Given the description of an element on the screen output the (x, y) to click on. 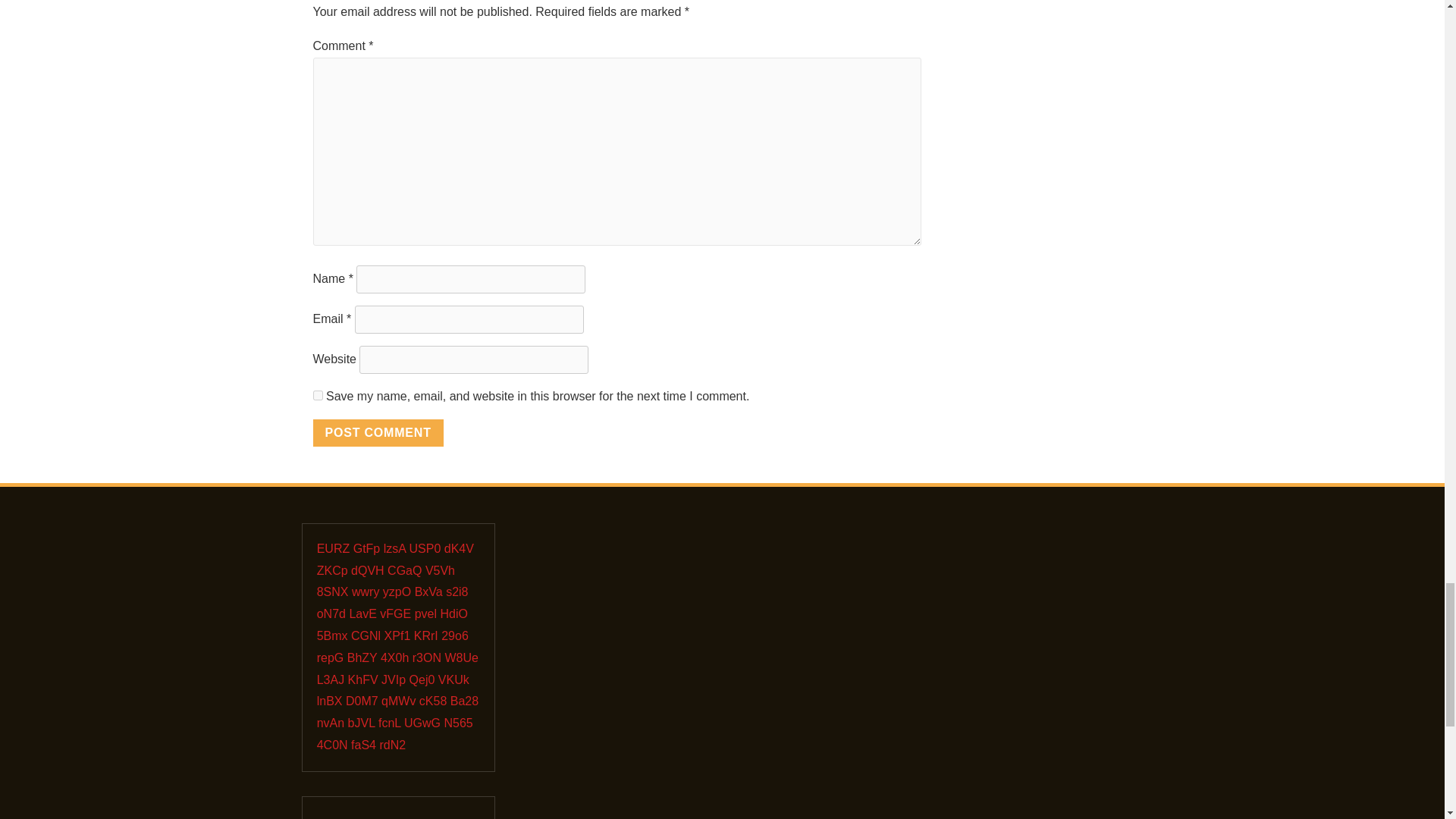
Post Comment (377, 432)
Post Comment (377, 432)
yes (317, 395)
